Given the description of an element on the screen output the (x, y) to click on. 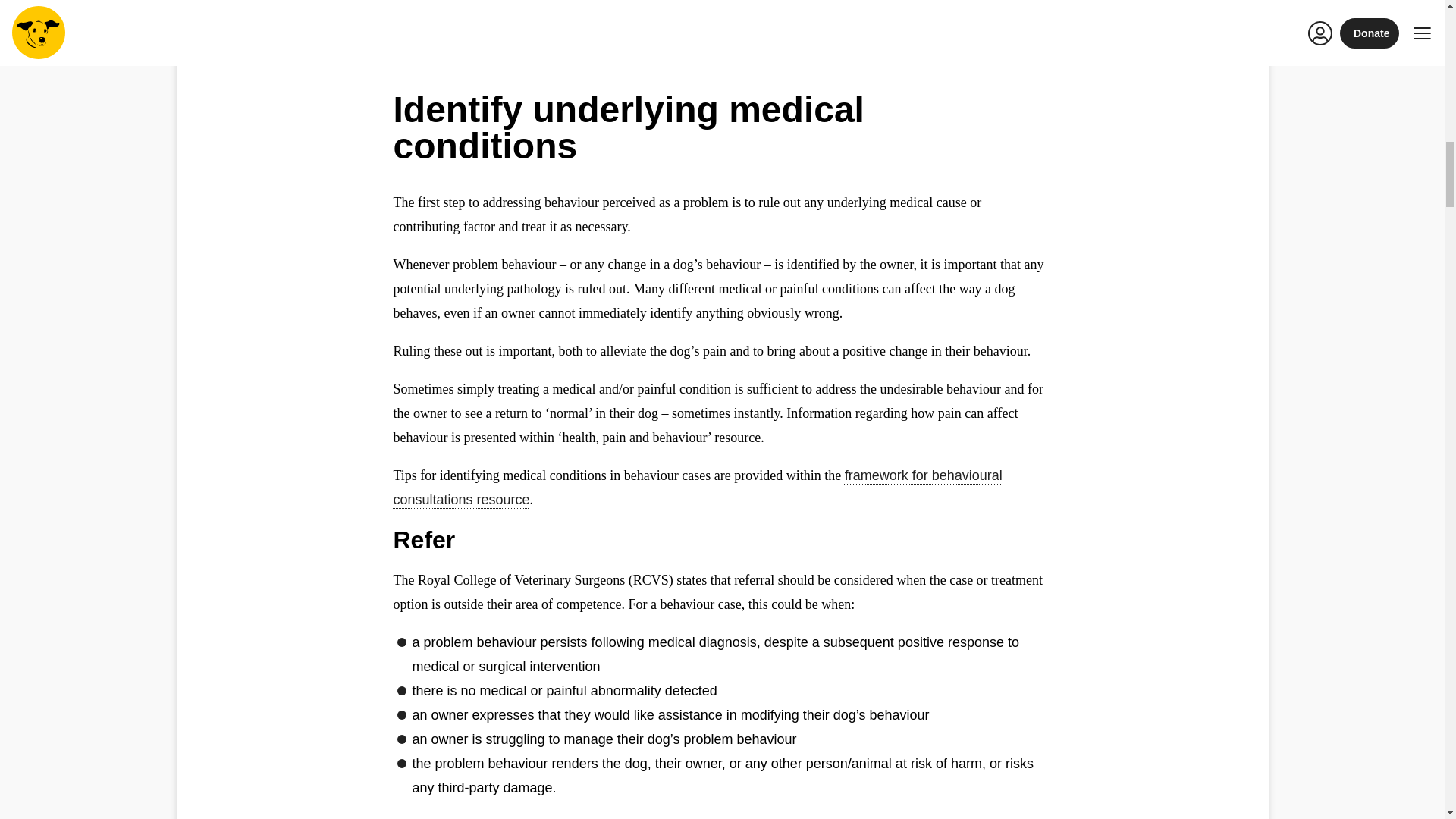
Framework for behavioural consultations (697, 486)
